Given the description of an element on the screen output the (x, y) to click on. 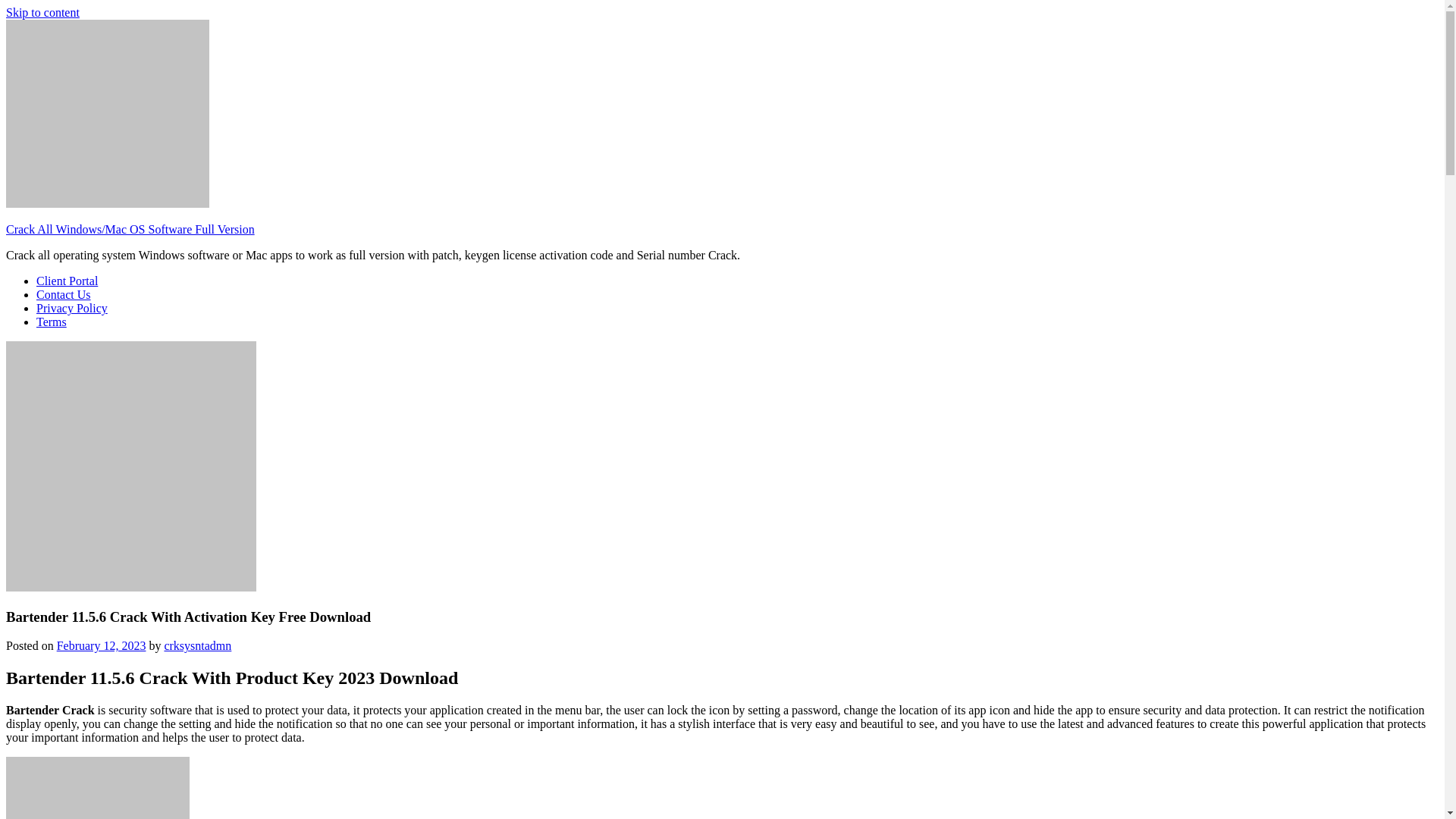
February 12, 2023 (101, 645)
crksysntadmn (197, 645)
Bartender Crack 11.5.6 With Activation Key Free Download  (97, 787)
View all posts by crksysntadmn (197, 645)
2:42 am (101, 645)
Terms (51, 321)
Client Portal (66, 280)
Skip to content (42, 11)
Privacy Policy (71, 308)
Contact Us (63, 294)
